Given the description of an element on the screen output the (x, y) to click on. 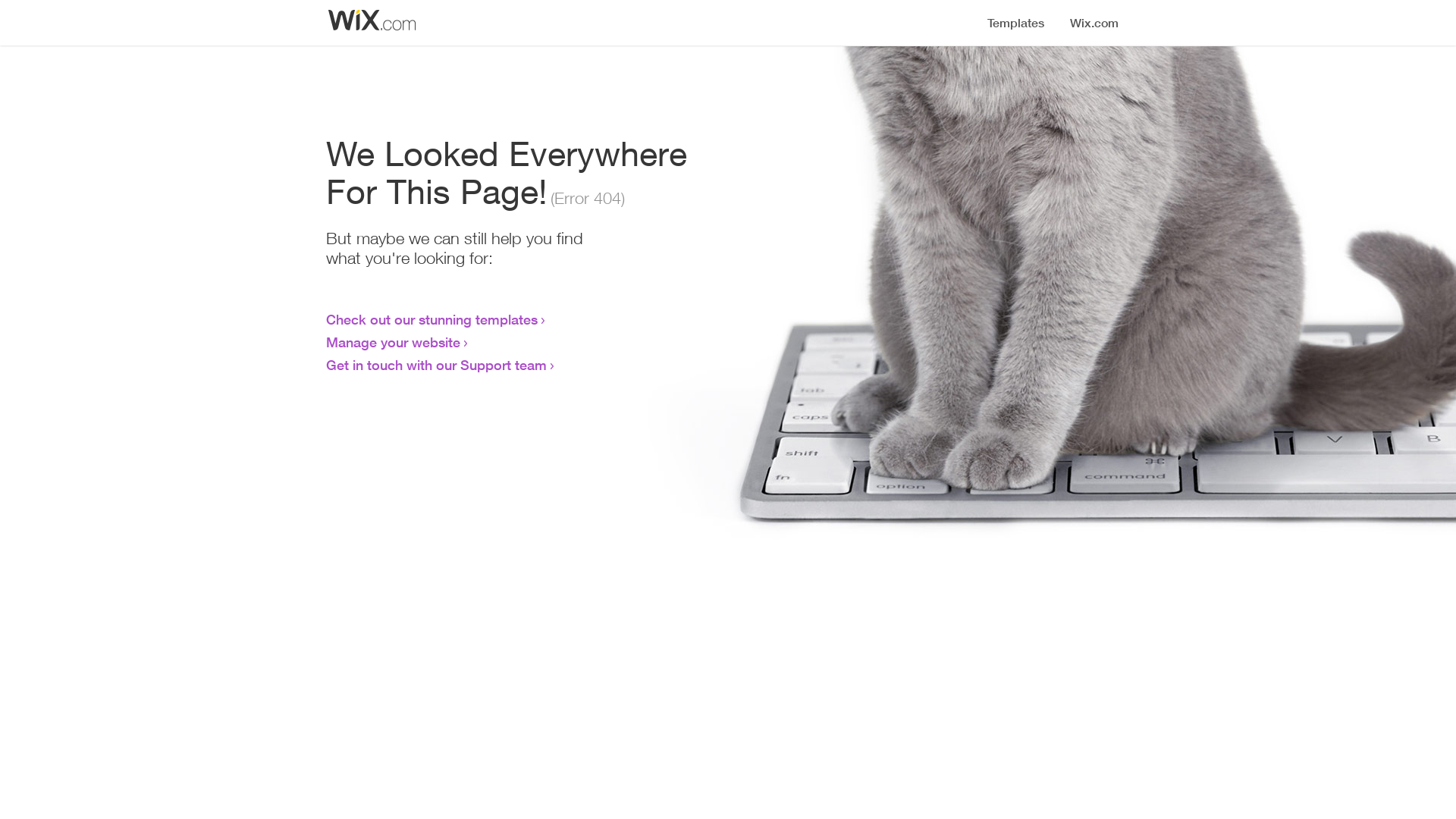
Manage your website Element type: text (393, 341)
Check out our stunning templates Element type: text (431, 318)
Get in touch with our Support team Element type: text (436, 364)
